Given the description of an element on the screen output the (x, y) to click on. 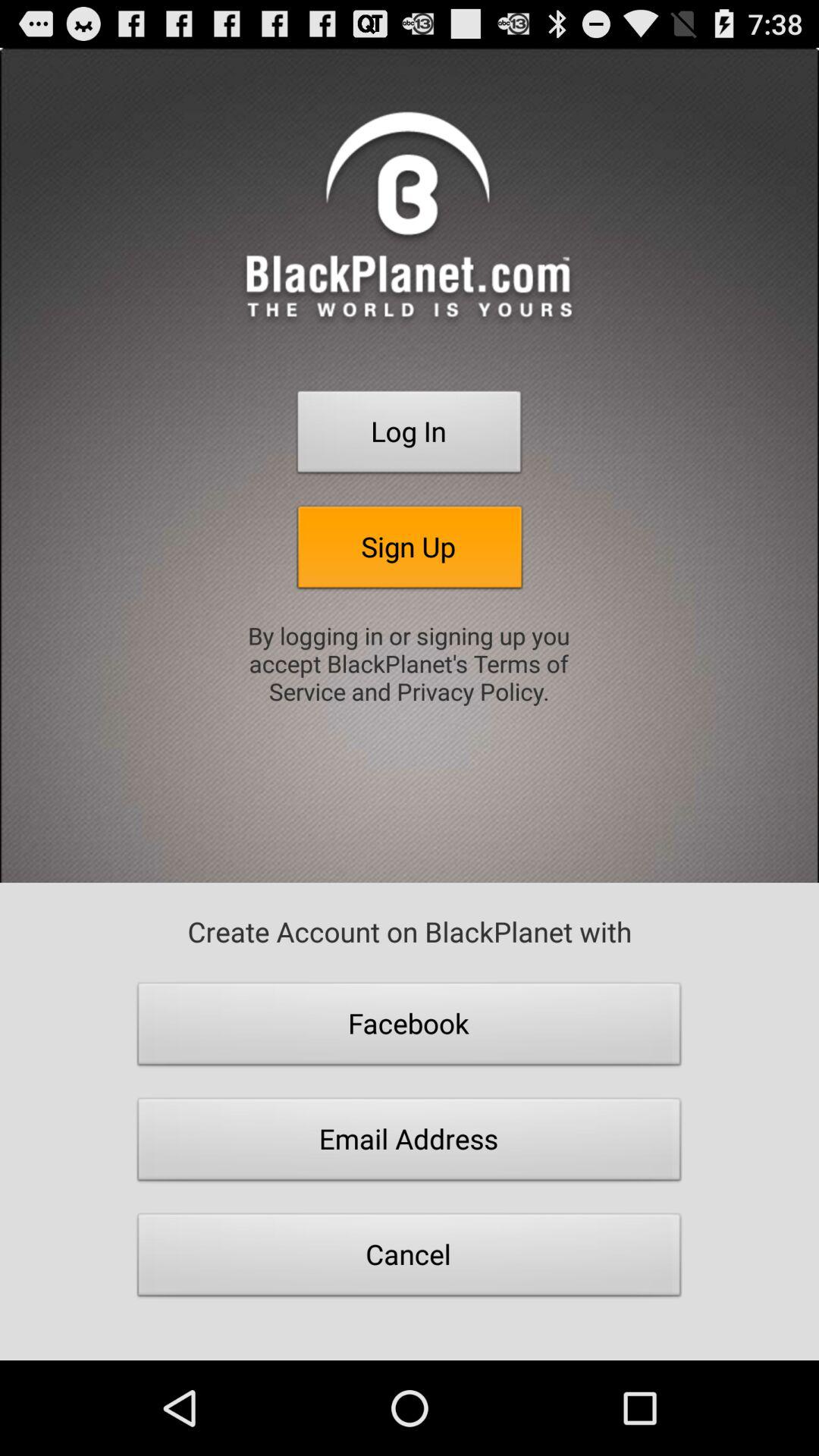
launch the icon below the create account on app (409, 1028)
